Given the description of an element on the screen output the (x, y) to click on. 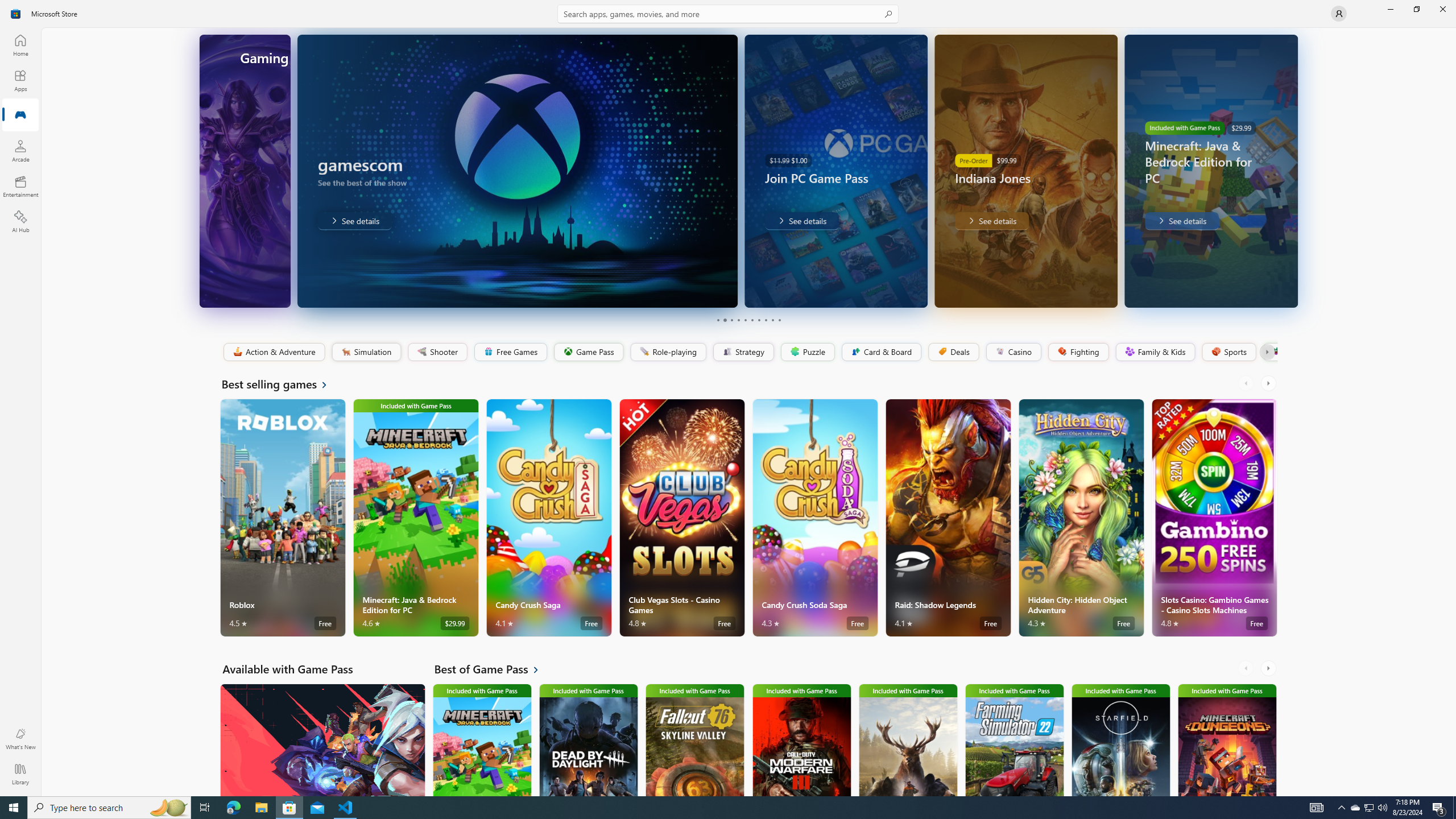
Class: Image (1274, 351)
Library (20, 773)
AutomationID: NavigationControl (728, 398)
Page 2 (724, 319)
Pager (748, 319)
Available with Game Pass. VALORANT (322, 739)
Restore Microsoft Store (1416, 9)
Action & Adventure (273, 352)
Platformer (1269, 352)
Entertainment (20, 185)
AI Hub (20, 221)
